Given the description of an element on the screen output the (x, y) to click on. 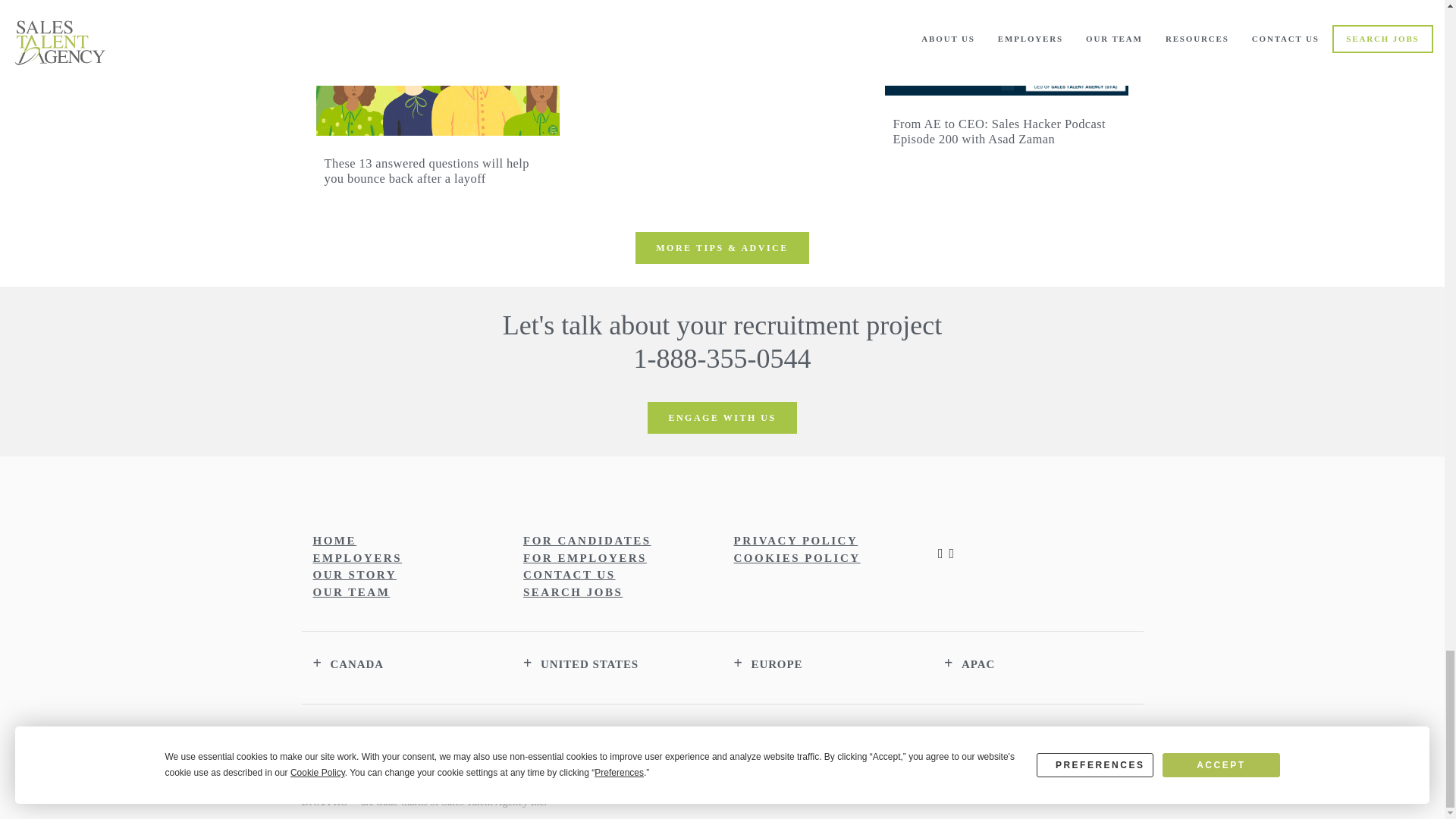
Follow us on Facebook (952, 553)
Connect with us on LinkedIn (940, 553)
